Given the description of an element on the screen output the (x, y) to click on. 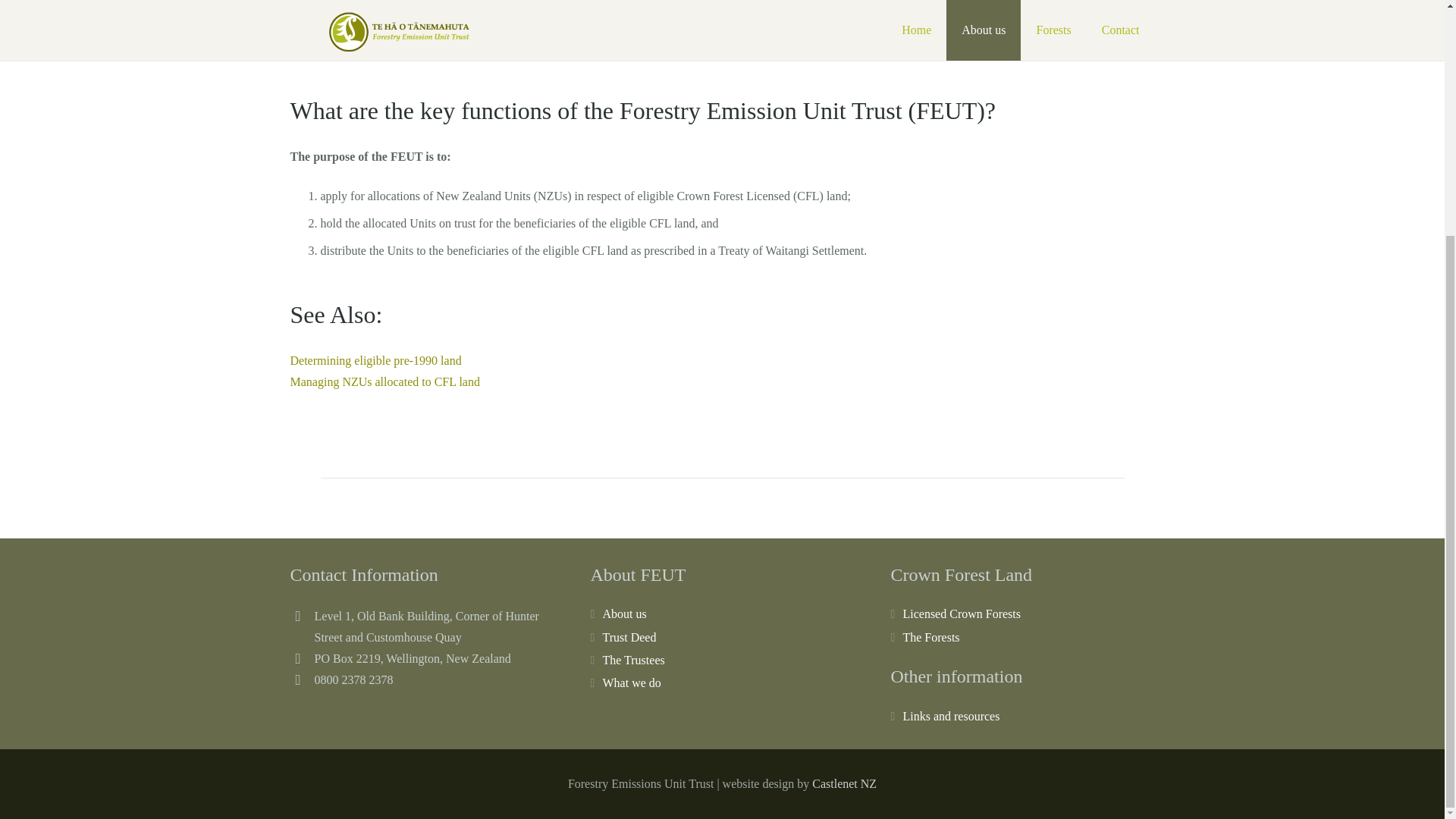
What we do (631, 682)
Licensed Crown Forests (961, 613)
Castlenet NZ (844, 783)
About us (624, 613)
The Trustees (632, 659)
Managing NZUs allocated to CFL land (384, 381)
The Forests (930, 636)
Links and resources (950, 716)
Trust Deed (629, 636)
Determining eligible pre-1990 land (375, 359)
